Given the description of an element on the screen output the (x, y) to click on. 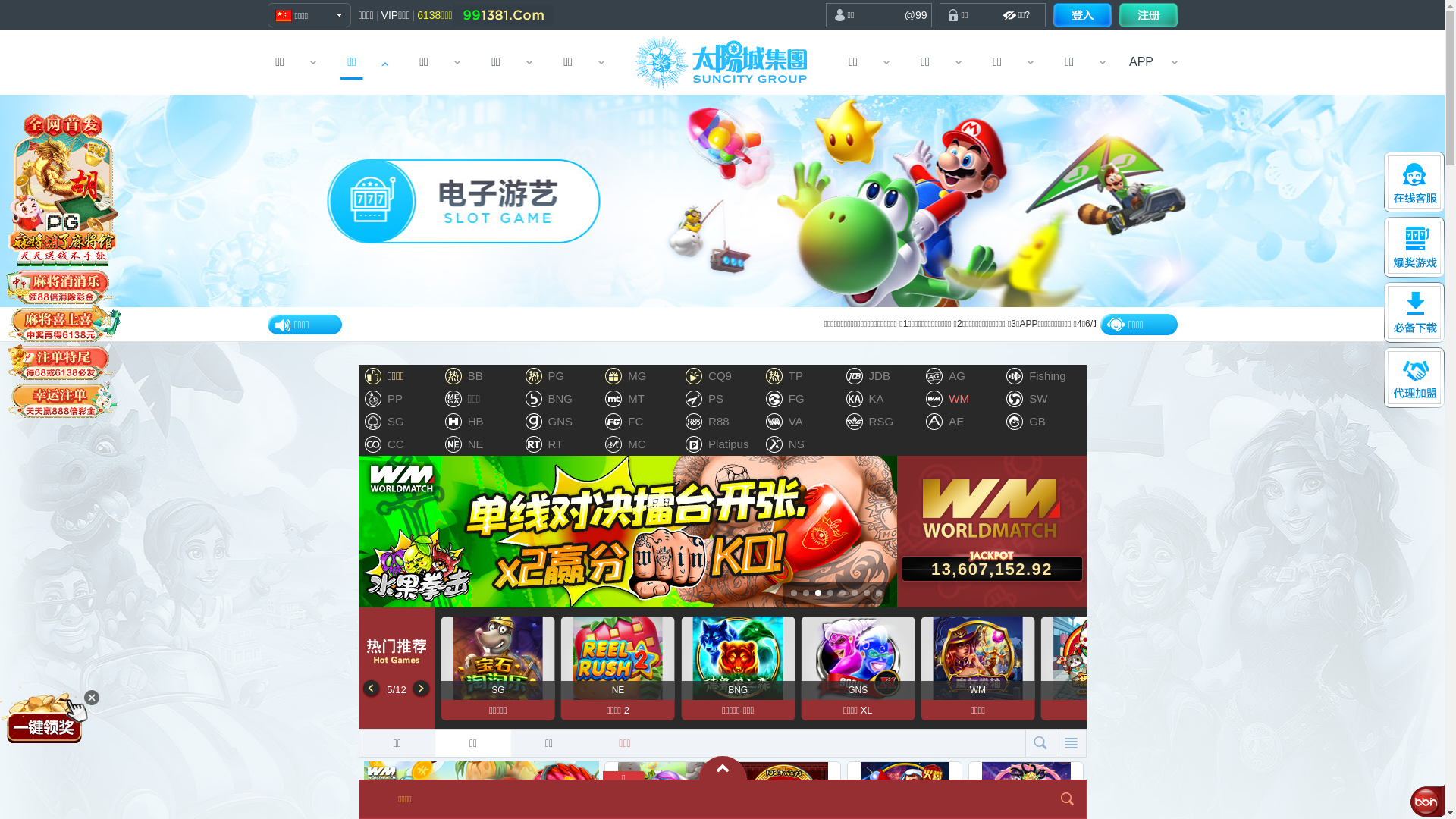
APP Element type: text (1141, 62)
